Given the description of an element on the screen output the (x, y) to click on. 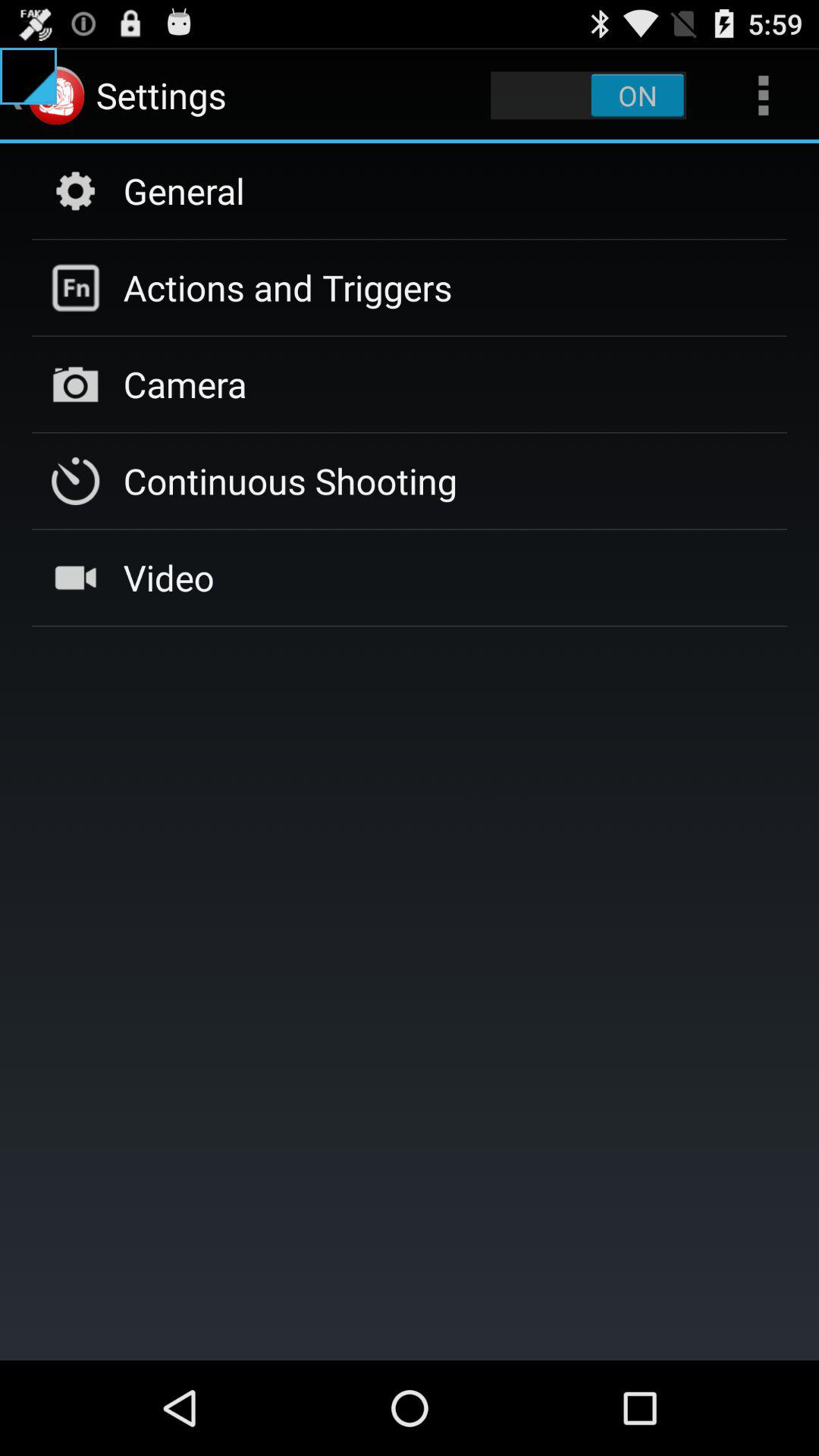
turn on icon above the camera item (287, 287)
